Given the description of an element on the screen output the (x, y) to click on. 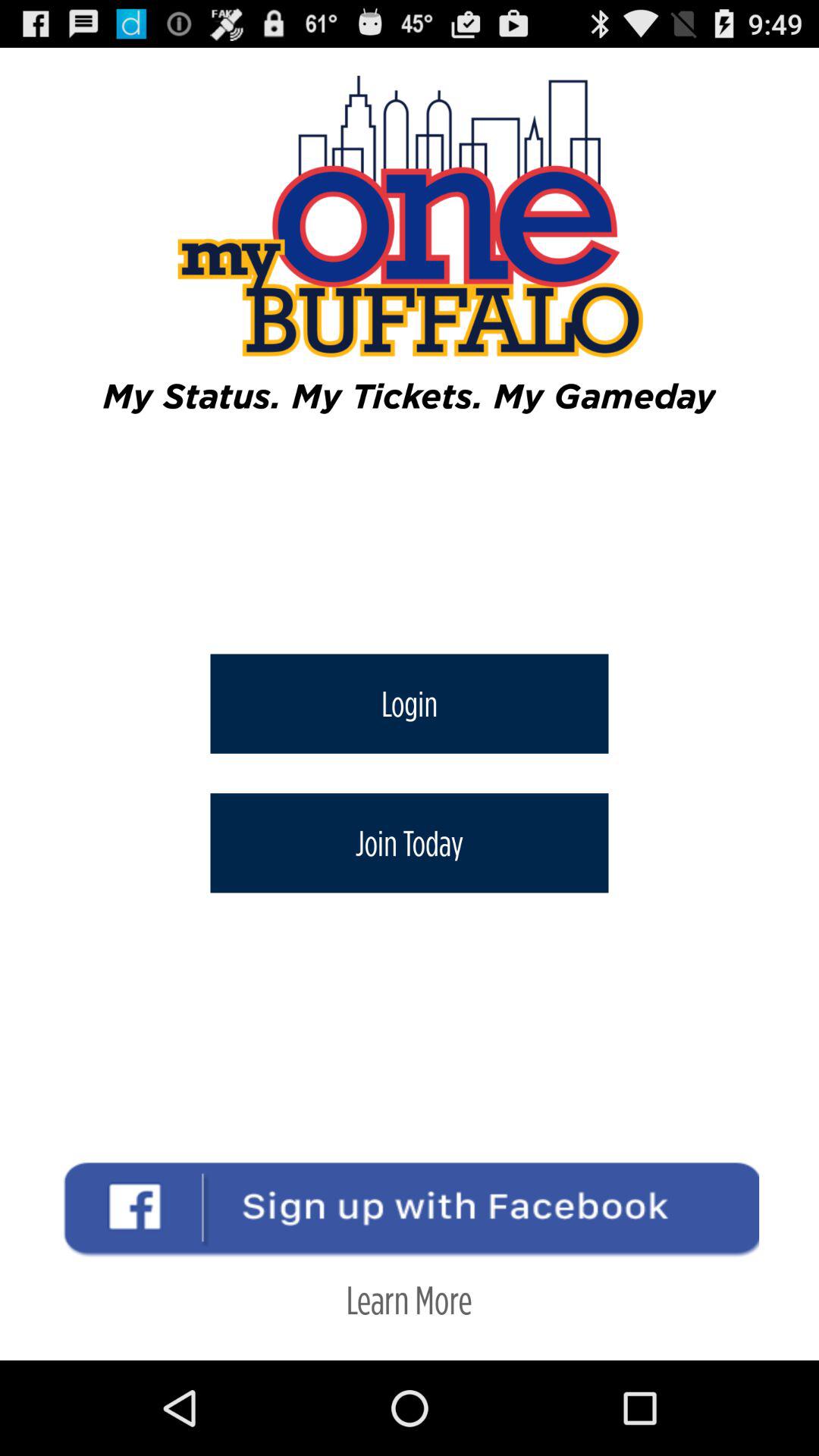
open the item above learn more icon (409, 842)
